Given the description of an element on the screen output the (x, y) to click on. 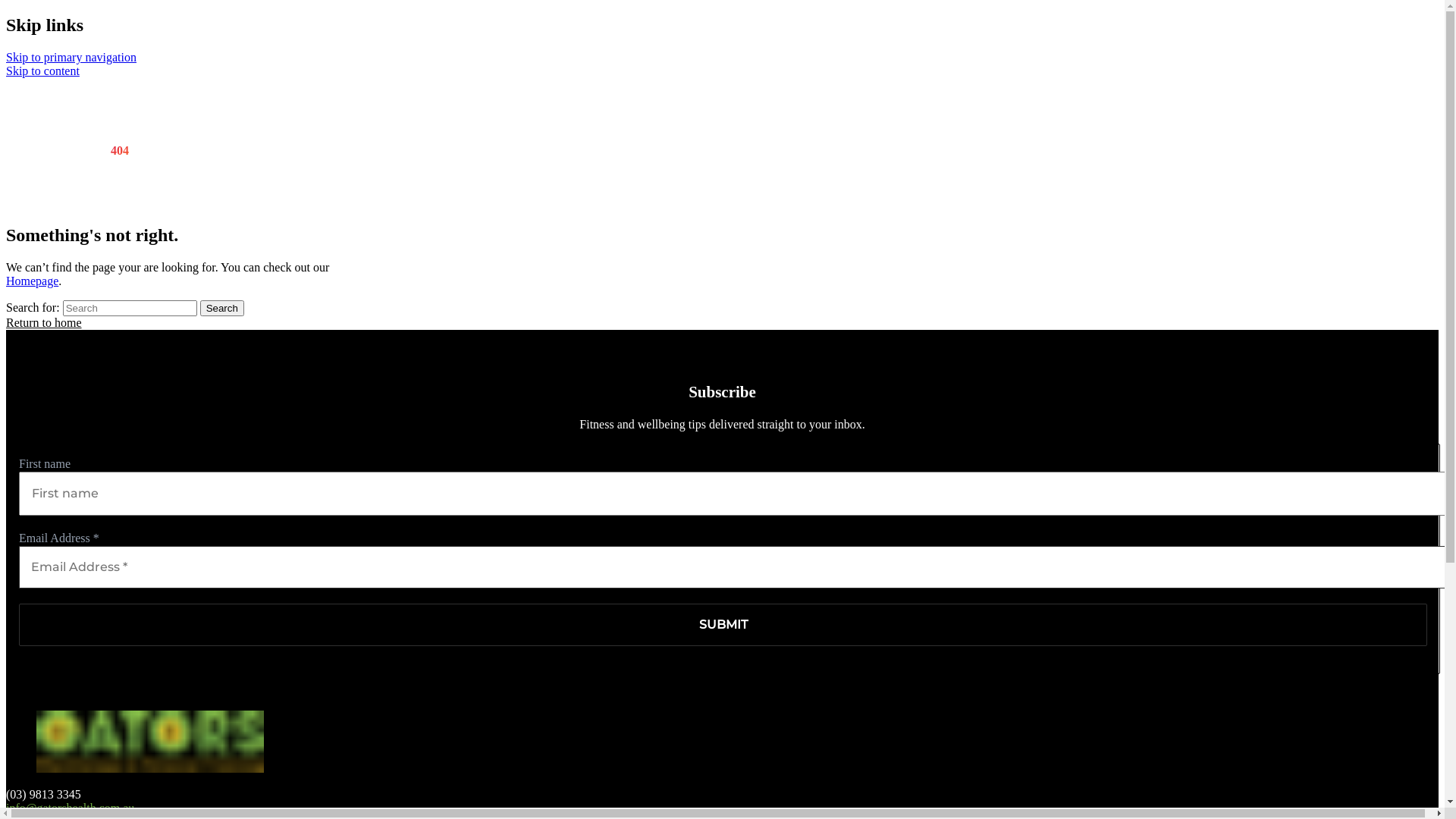
Search Element type: text (222, 308)
First name Element type: hover (735, 493)
Email Address Element type: hover (734, 567)
Skip to primary navigation Element type: text (71, 56)
info@gatorshealth.com.au Element type: text (70, 807)
Skip to content Element type: text (42, 70)
SUBMIT Element type: text (722, 624)
Homepage Element type: text (32, 280)
Return to home Element type: text (43, 322)
